Given the description of an element on the screen output the (x, y) to click on. 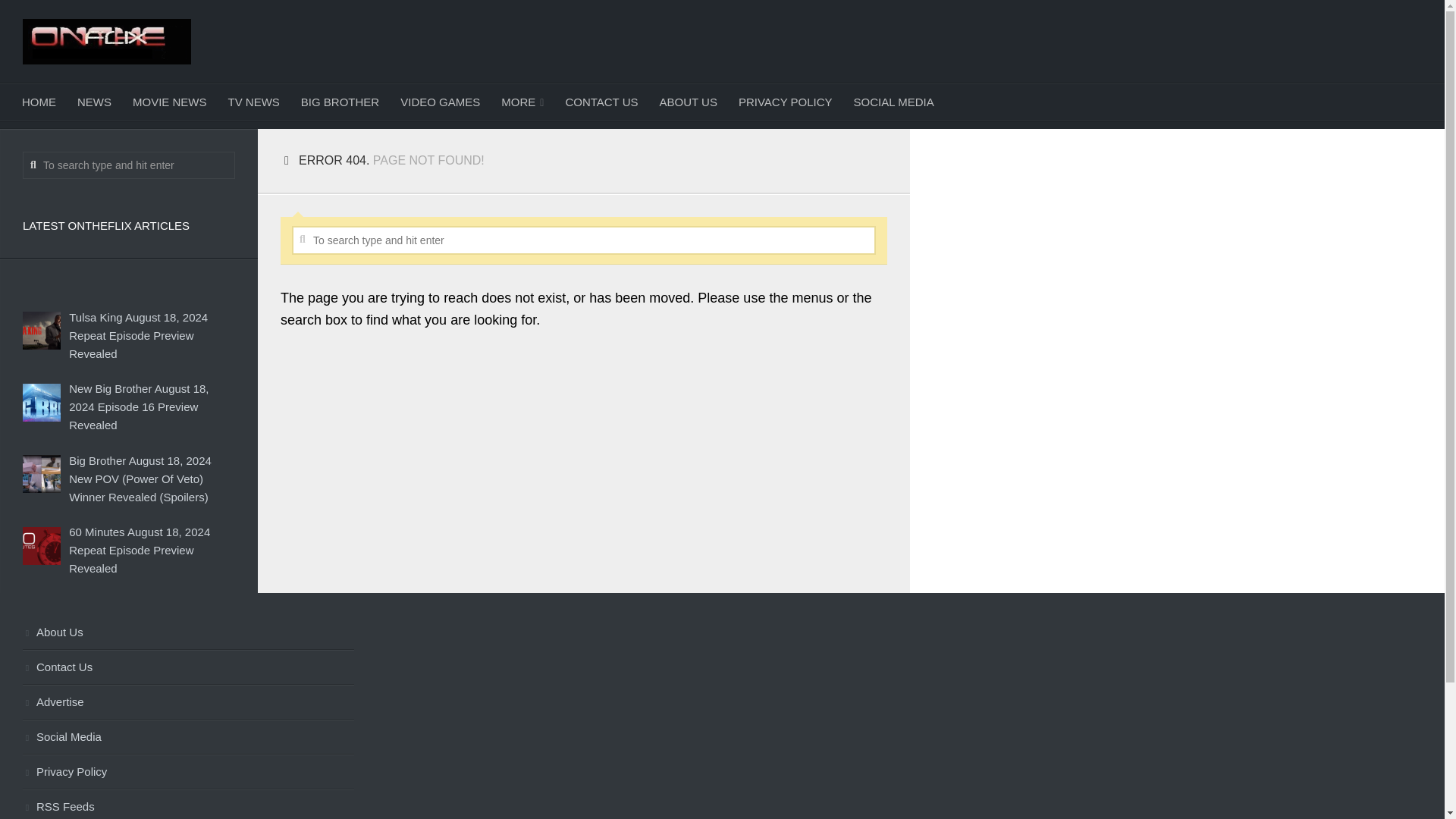
BIG BROTHER (339, 102)
Social Media (188, 737)
To search type and hit enter (584, 240)
RSS Feeds (188, 804)
60 Minutes August 18, 2024 Repeat Episode Preview Revealed (138, 549)
Contact Us (188, 667)
MOVIE NEWS (169, 102)
NEWS (94, 102)
VIDEO GAMES (440, 102)
MORE (522, 102)
